Given the description of an element on the screen output the (x, y) to click on. 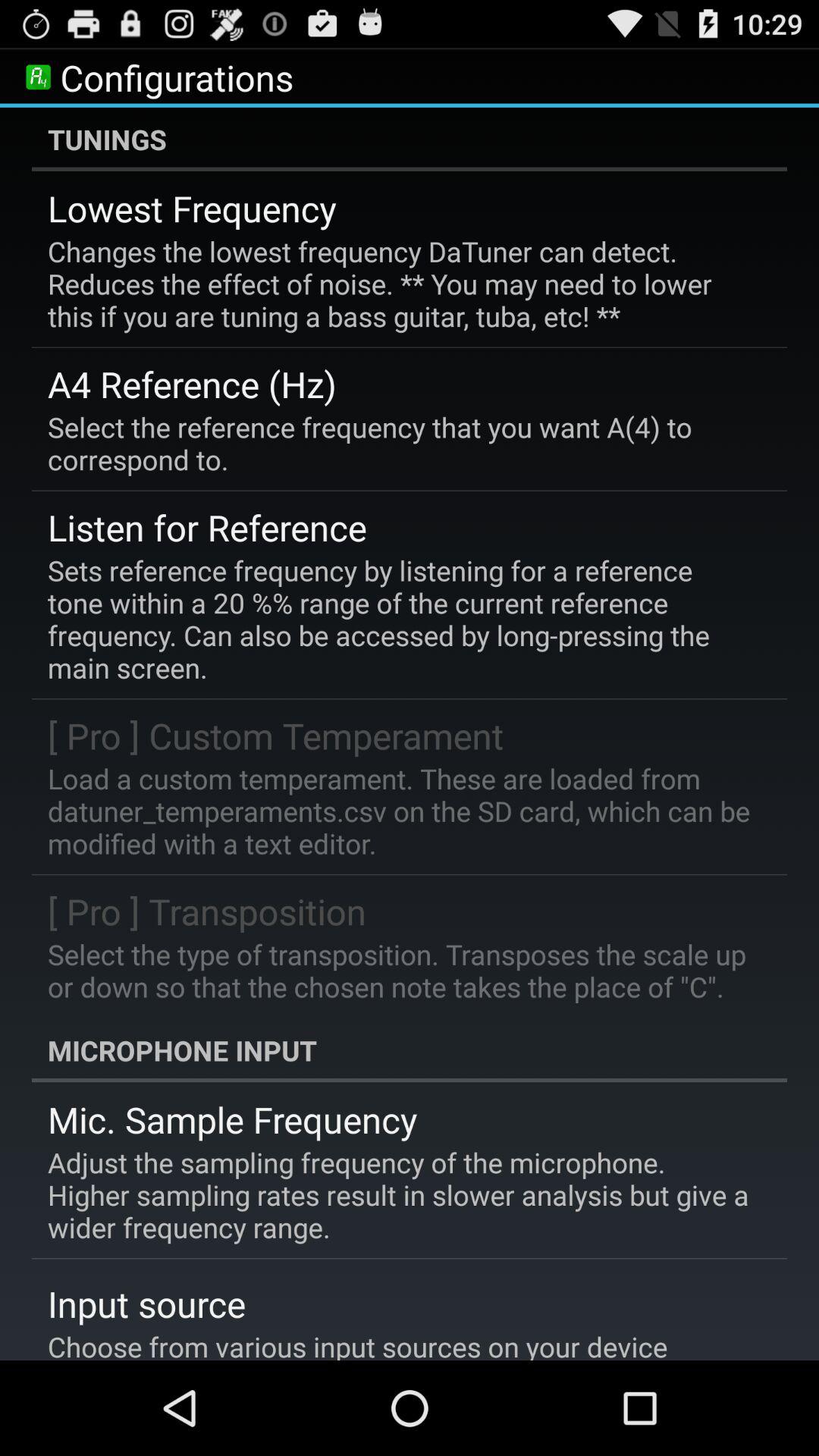
turn on [ pro ] transposition item (206, 911)
